Given the description of an element on the screen output the (x, y) to click on. 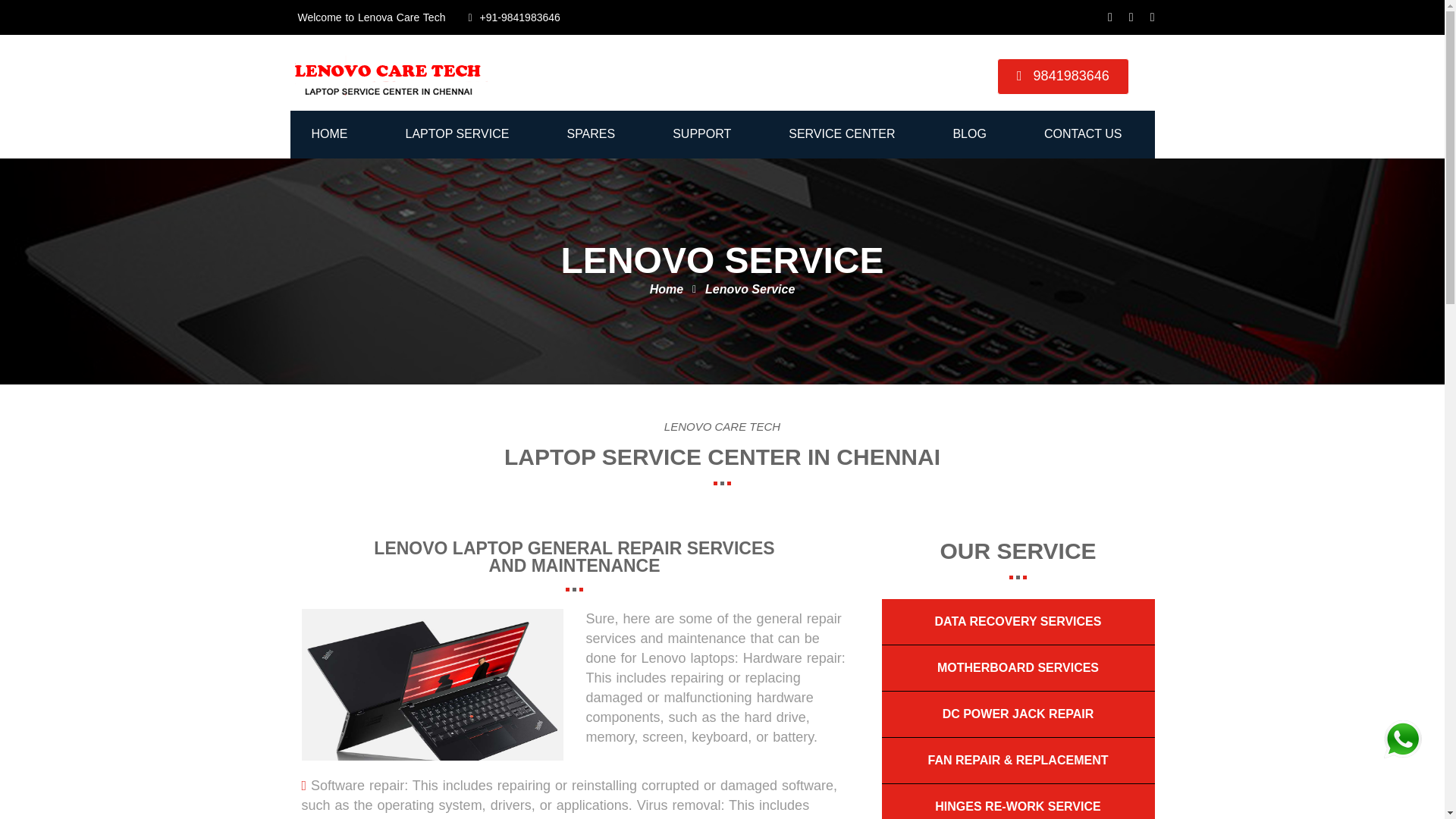
  9841983646 (1063, 76)
SERVICE CENTER (841, 134)
SUPPORT (701, 134)
SPARES (590, 134)
LAPTOP SERVICE (456, 134)
Lenovo service center in chennai (432, 684)
HOME (328, 134)
Authorized lenovo laptop service chennai (387, 72)
